Given the description of an element on the screen output the (x, y) to click on. 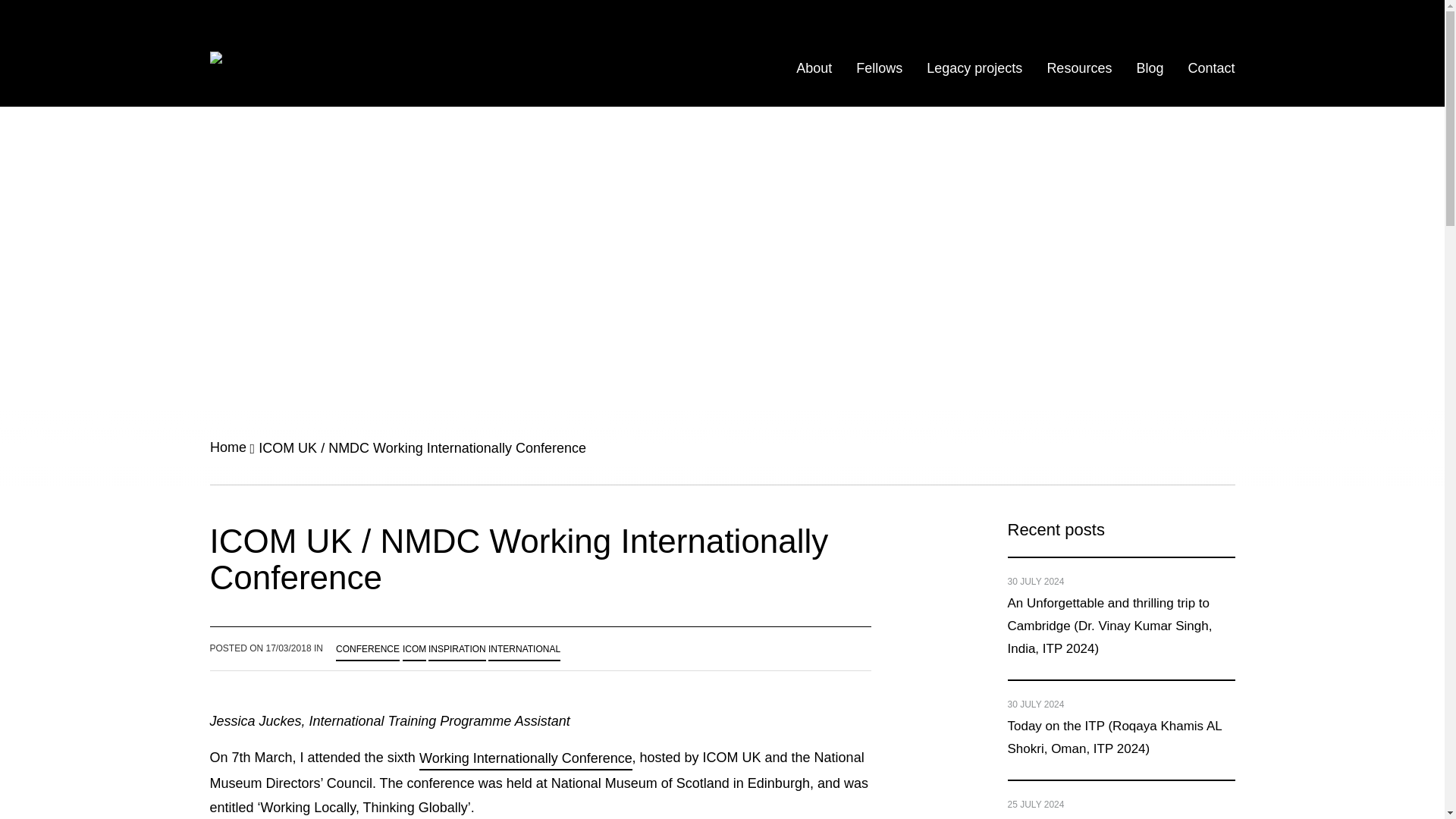
ICOM (414, 648)
CONFERENCE (367, 648)
INTERNATIONAL (523, 648)
INSPIRATION (457, 648)
Legacy projects (974, 68)
Home (227, 446)
Working Internationally Conference (525, 758)
